Given the description of an element on the screen output the (x, y) to click on. 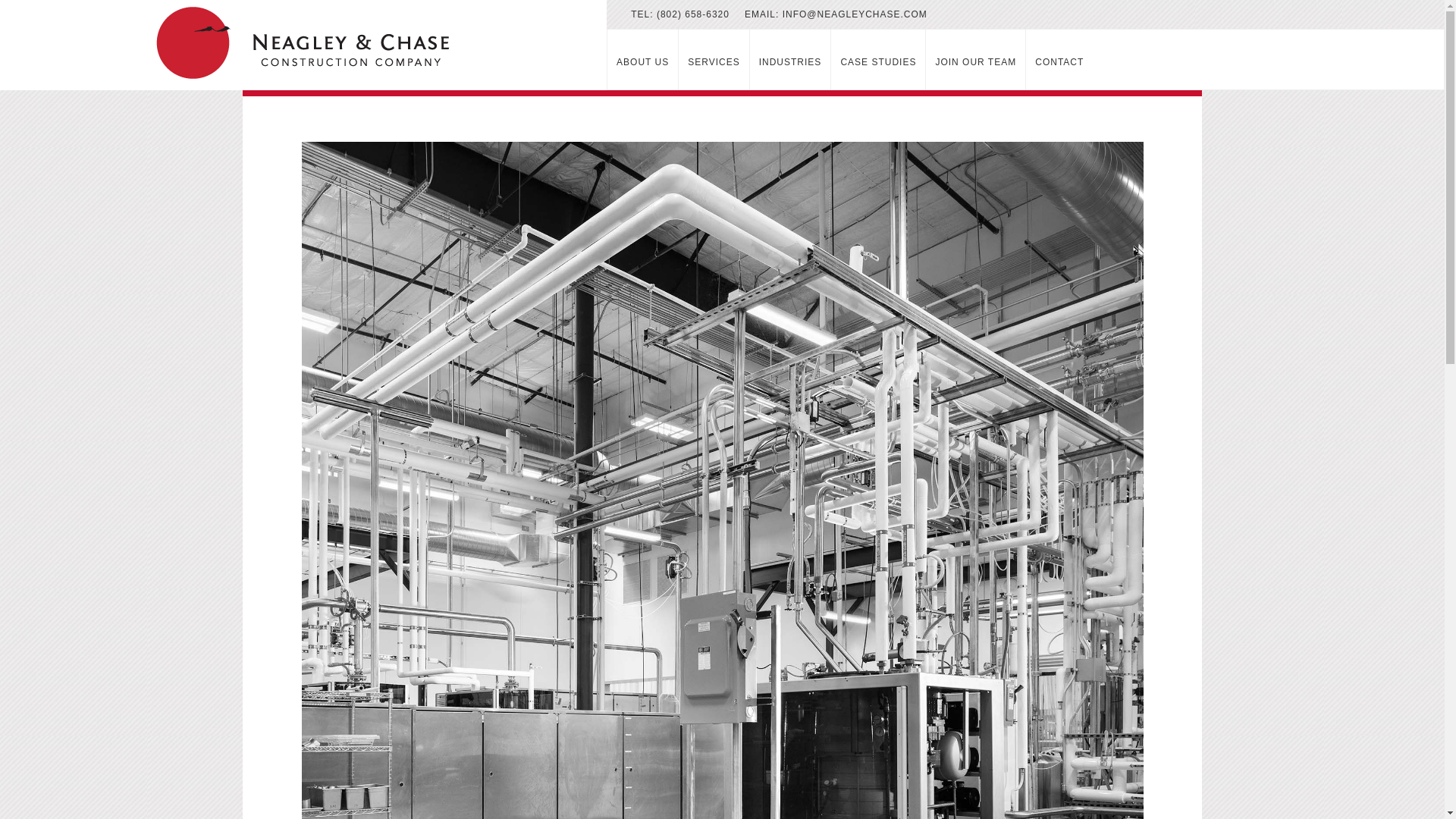
ABOUT US (642, 59)
CASE STUDIES (878, 59)
CONTACT (1059, 59)
JOIN OUR TEAM (976, 59)
INDUSTRIES (790, 59)
SERVICES (713, 59)
